Given the description of an element on the screen output the (x, y) to click on. 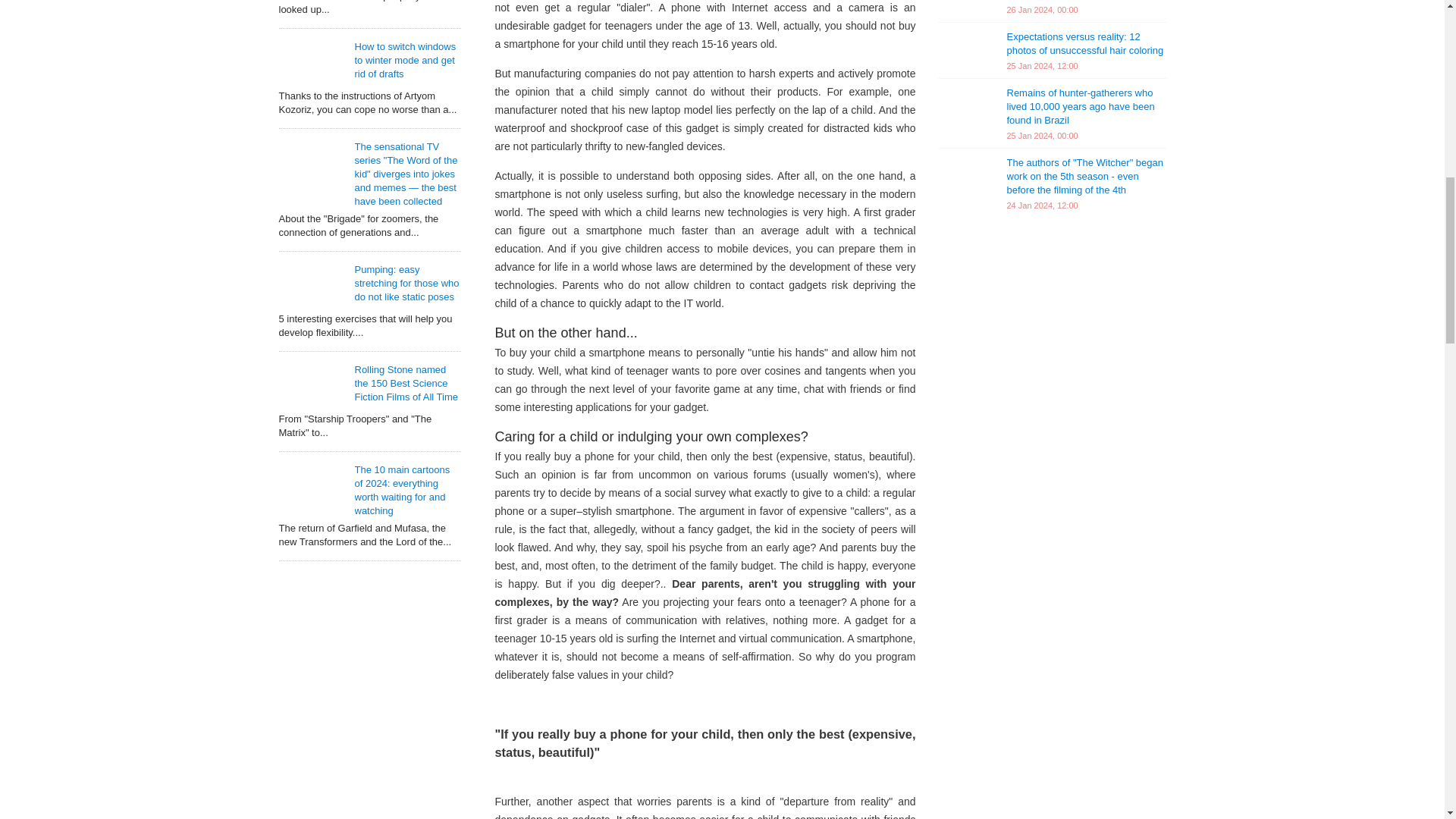
How to switch windows to winter mode and get rid of drafts (406, 59)
